Given the description of an element on the screen output the (x, y) to click on. 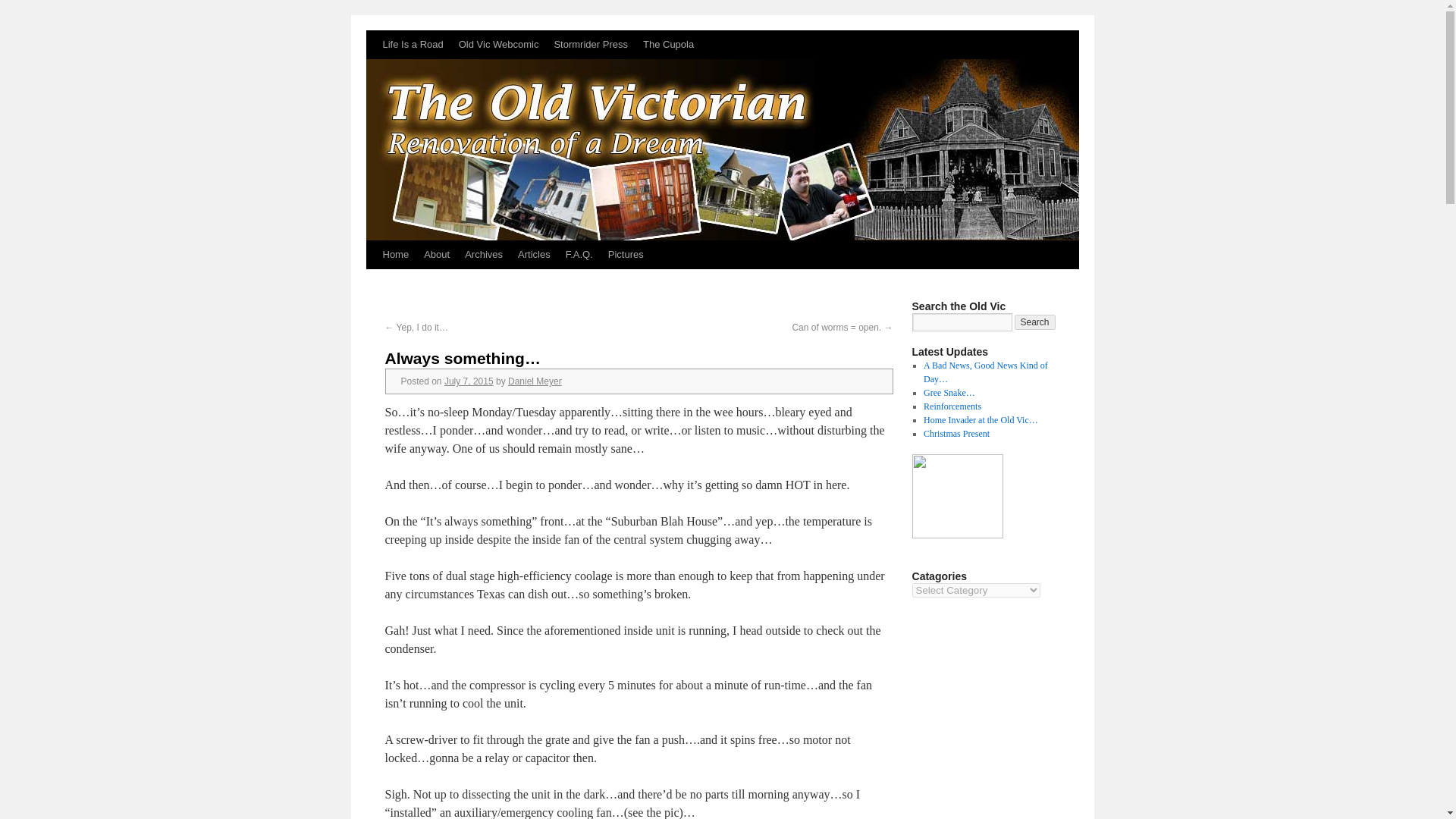
Archives (484, 254)
1:11 am (468, 380)
Articles (534, 254)
The Cupola (667, 44)
Home (395, 254)
Search (1034, 322)
Daniel Meyer (535, 380)
View all posts by Daniel Meyer (535, 380)
Pictures (624, 254)
